Given the description of an element on the screen output the (x, y) to click on. 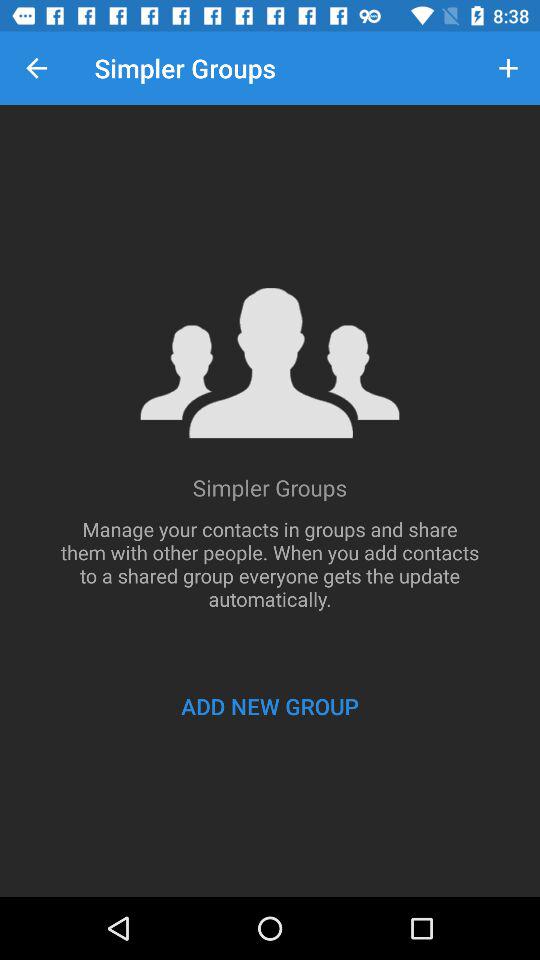
launch icon above the manage your contacts (36, 68)
